Given the description of an element on the screen output the (x, y) to click on. 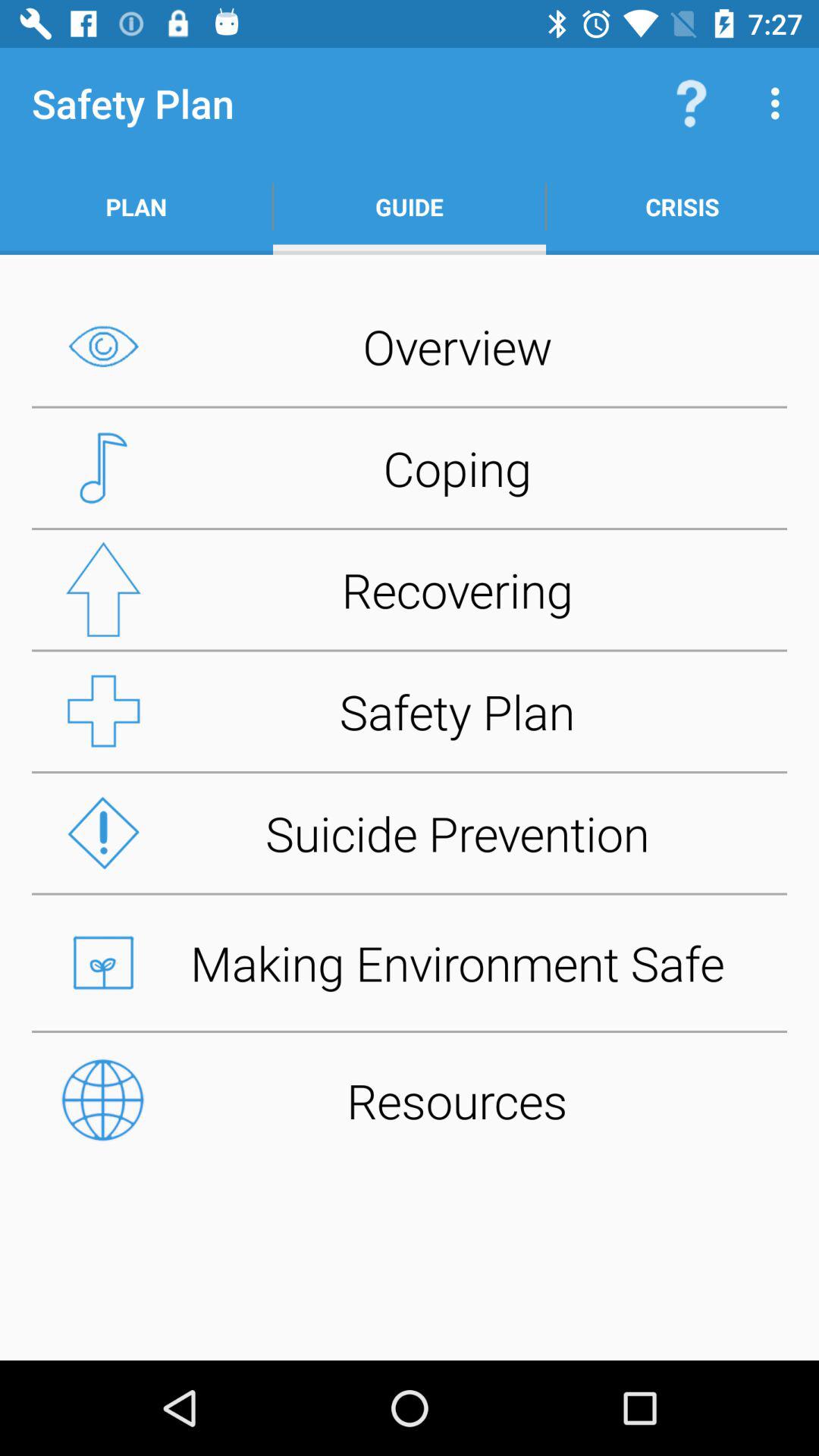
tap app below plan app (409, 346)
